Given the description of an element on the screen output the (x, y) to click on. 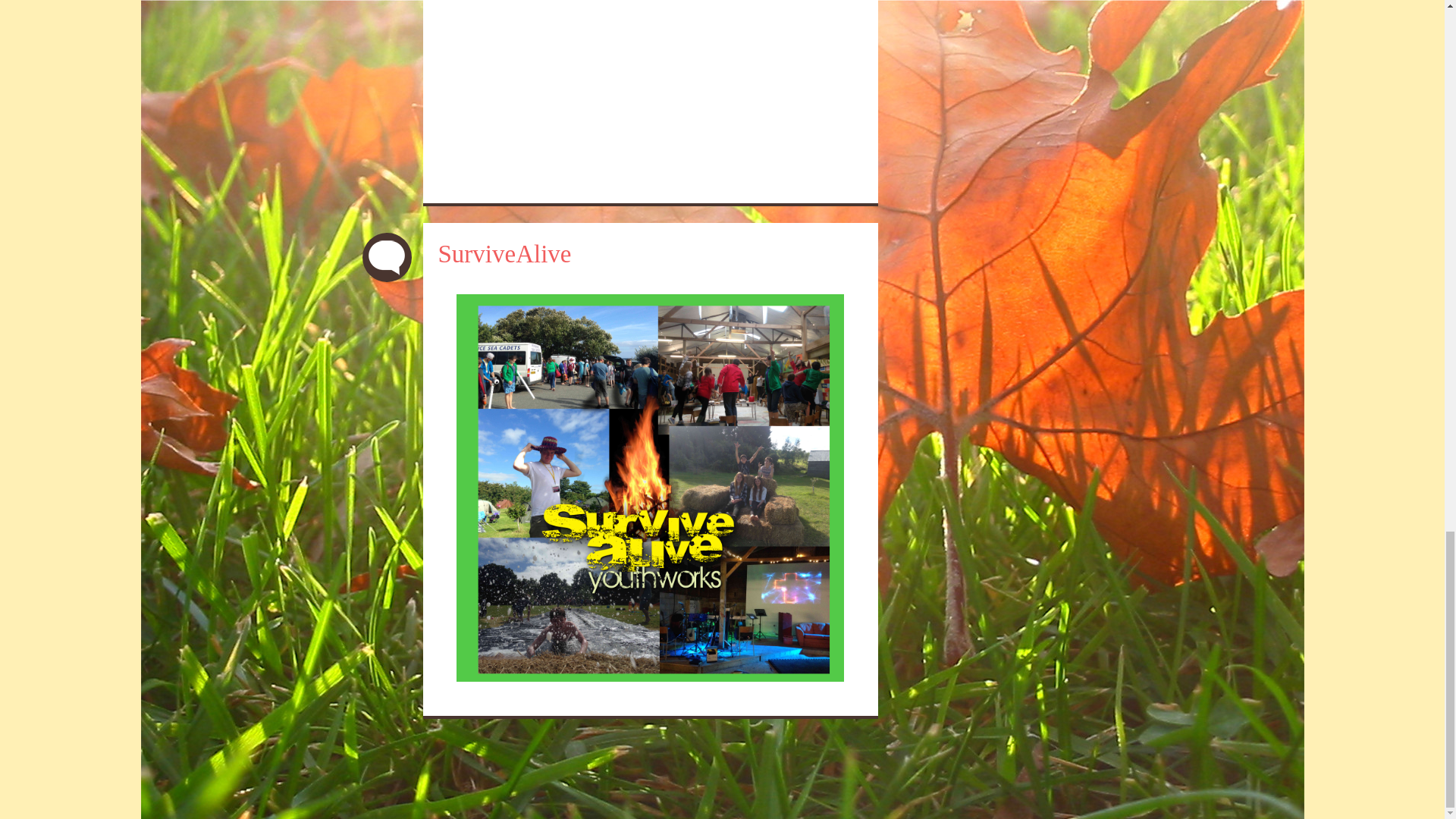
Permalink to SurviveAlive (505, 253)
Chat (387, 256)
SurviveAlive (505, 253)
All Chat posts (387, 256)
